Given the description of an element on the screen output the (x, y) to click on. 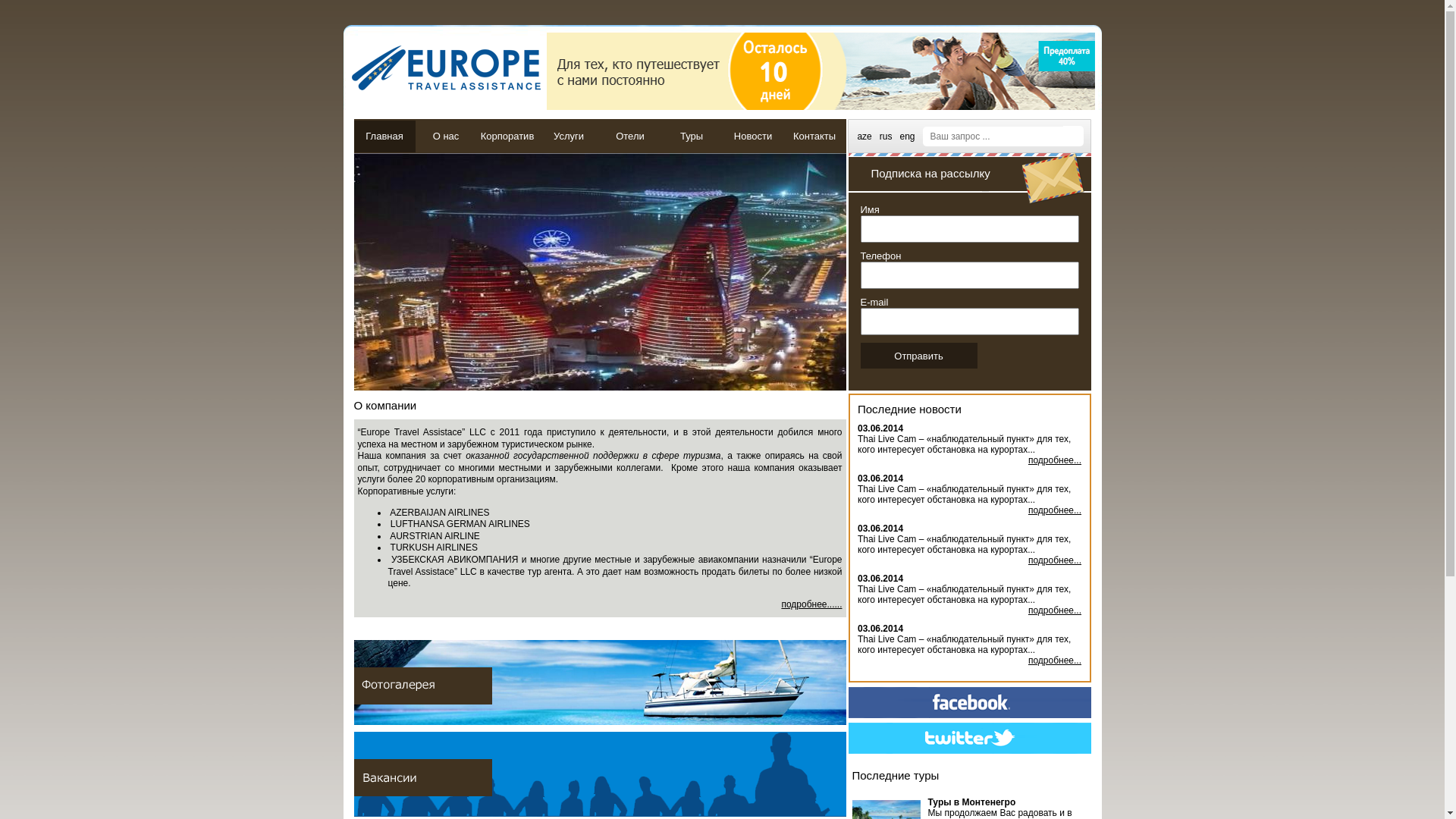
rus Element type: text (885, 135)
aze Element type: text (863, 135)
eng Element type: text (906, 135)
